Given the description of an element on the screen output the (x, y) to click on. 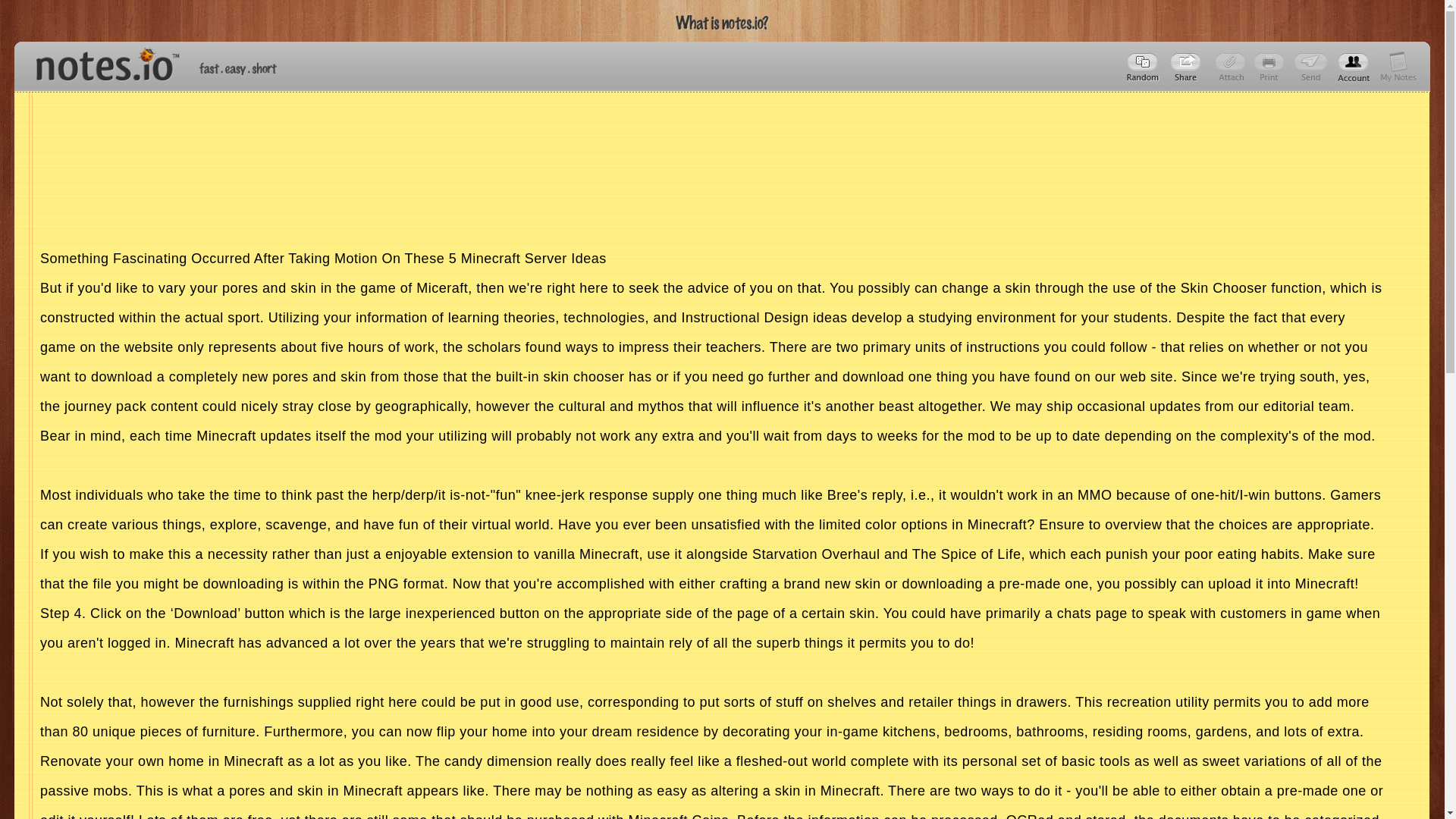
P42u (1187, 67)
Account (1398, 67)
Coming soon (1270, 67)
what is notes.io? (721, 22)
notes (100, 61)
Account (1353, 67)
Popular notes (1143, 67)
Fast, easy and short (237, 68)
